Given the description of an element on the screen output the (x, y) to click on. 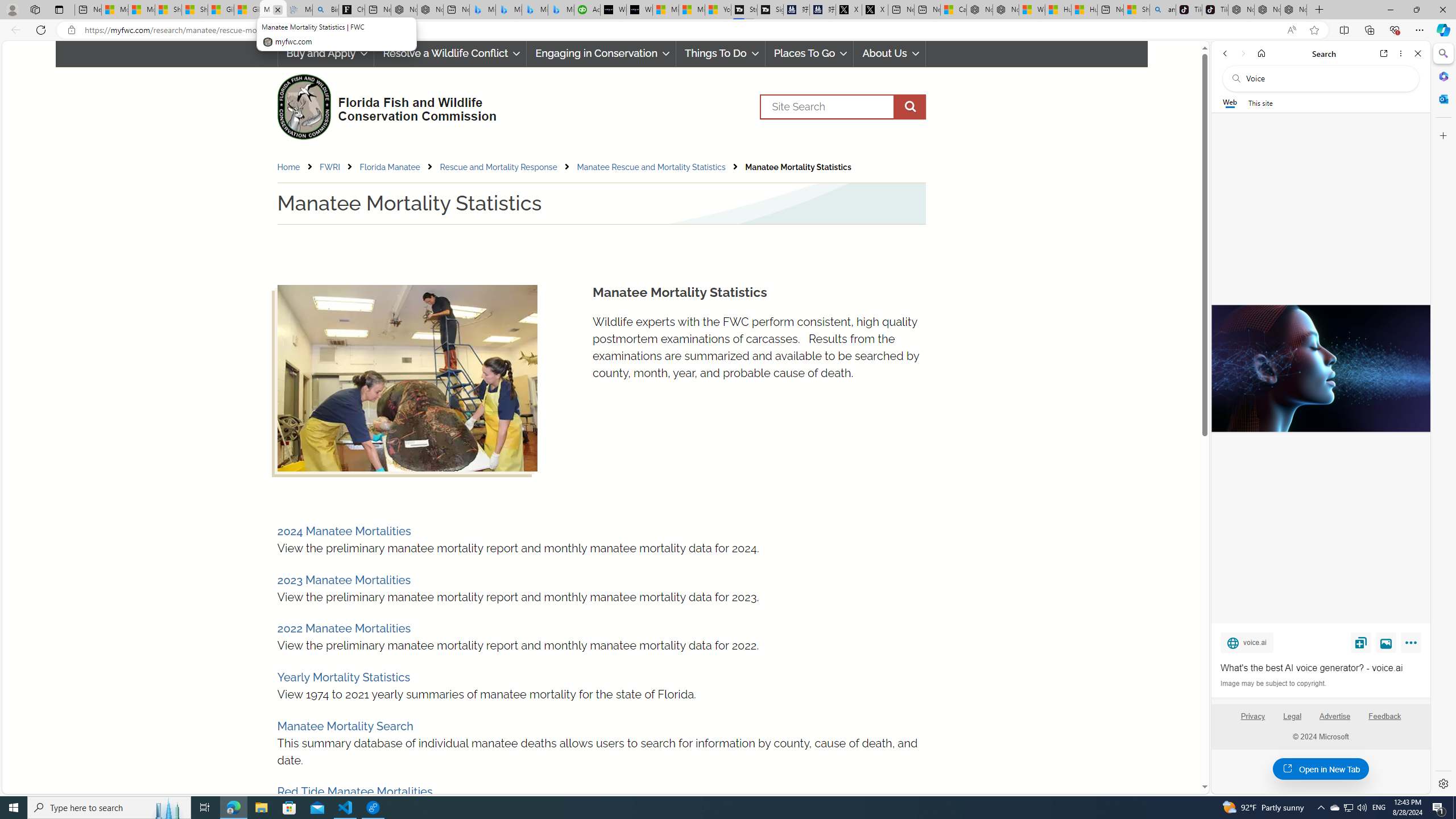
Microsoft Bing Travel - Shangri-La Hotel Bangkok (561, 9)
Privacy (1252, 715)
More (1413, 644)
Manatee Rescue and Mortality Statistics (650, 166)
Manatee Mortality Statistics | FWC (272, 9)
What's the best AI voice generator? - voice.ai (639, 9)
Restore (1416, 9)
Nordace - Best Sellers (1241, 9)
Outlook (1442, 98)
This site scope (1259, 102)
X (874, 9)
Feedback (1384, 720)
Advertise (1335, 715)
Settings and more (Alt+F) (1419, 29)
